Given the description of an element on the screen output the (x, y) to click on. 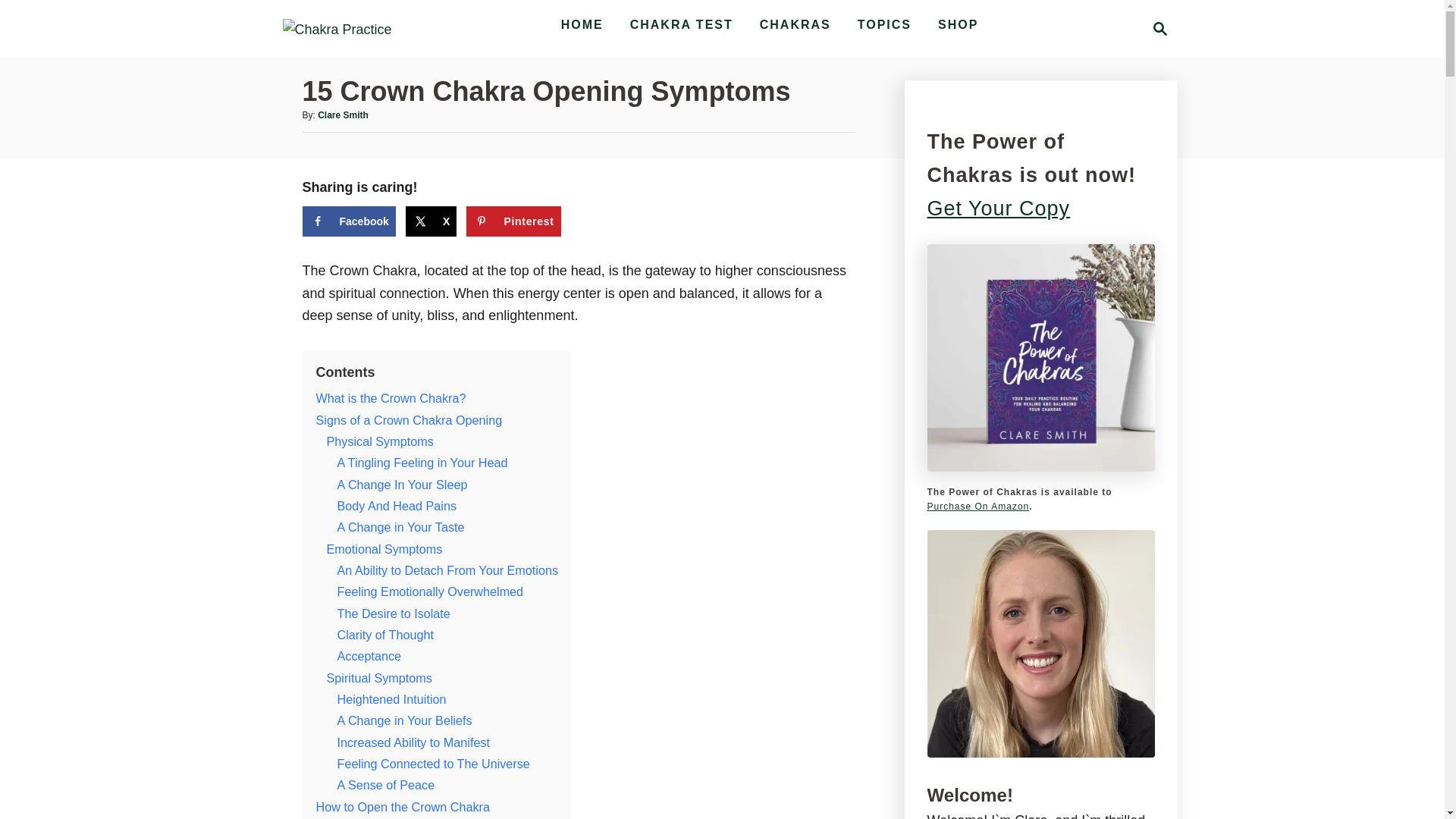
Magnifying Glass (1160, 28)
SHOP (957, 24)
Signs of a Crown Chakra Opening (408, 419)
Facebook (347, 221)
A Tingling Feeling in Your Head (421, 462)
CHAKRA TEST (682, 24)
Body And Head Pains (396, 505)
HOME (582, 24)
X (431, 221)
Share on X (431, 221)
